Given the description of an element on the screen output the (x, y) to click on. 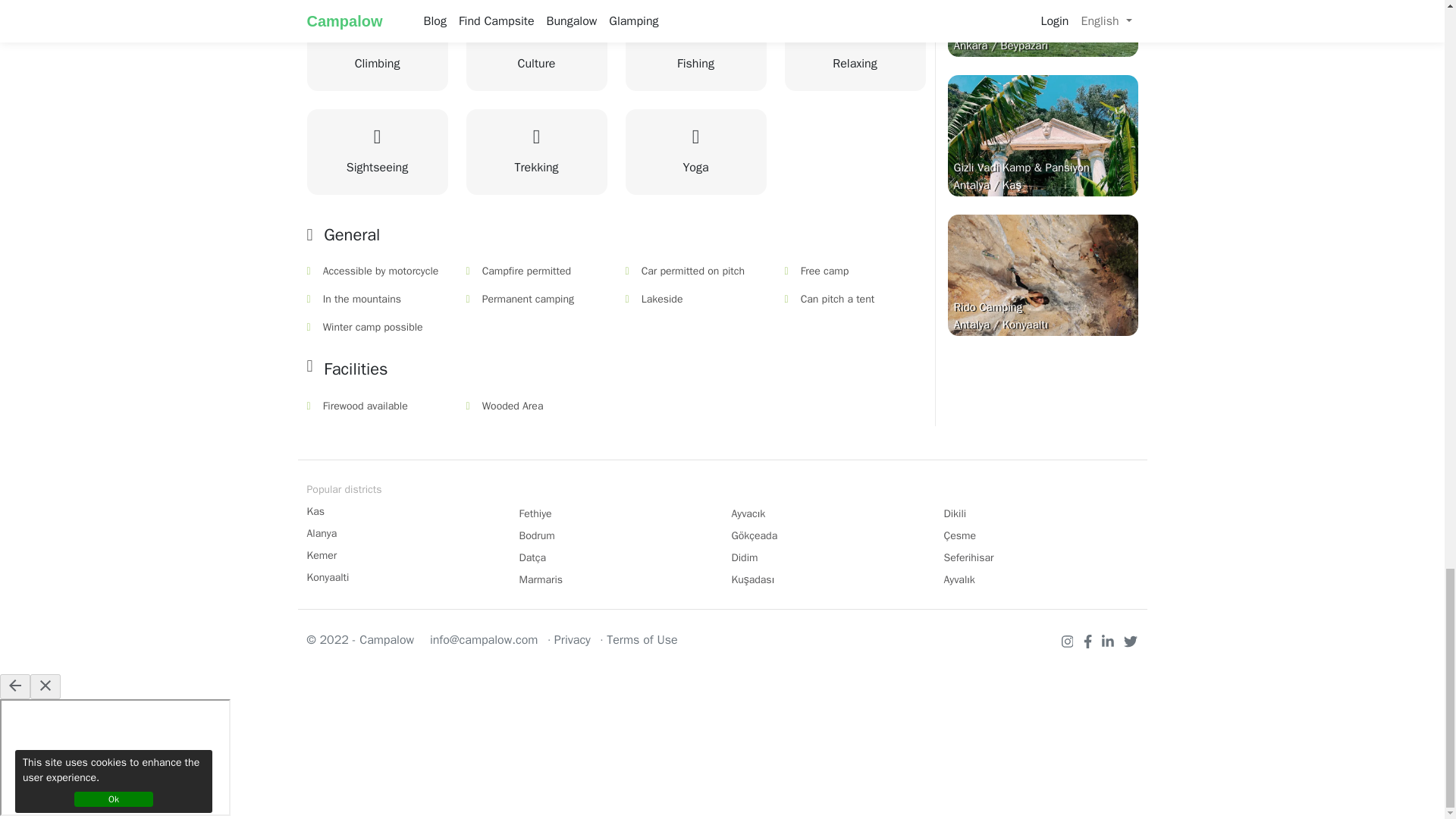
facebook (1089, 640)
twitter (1130, 640)
linkedin (1110, 640)
instagram (1069, 640)
